Given the description of an element on the screen output the (x, y) to click on. 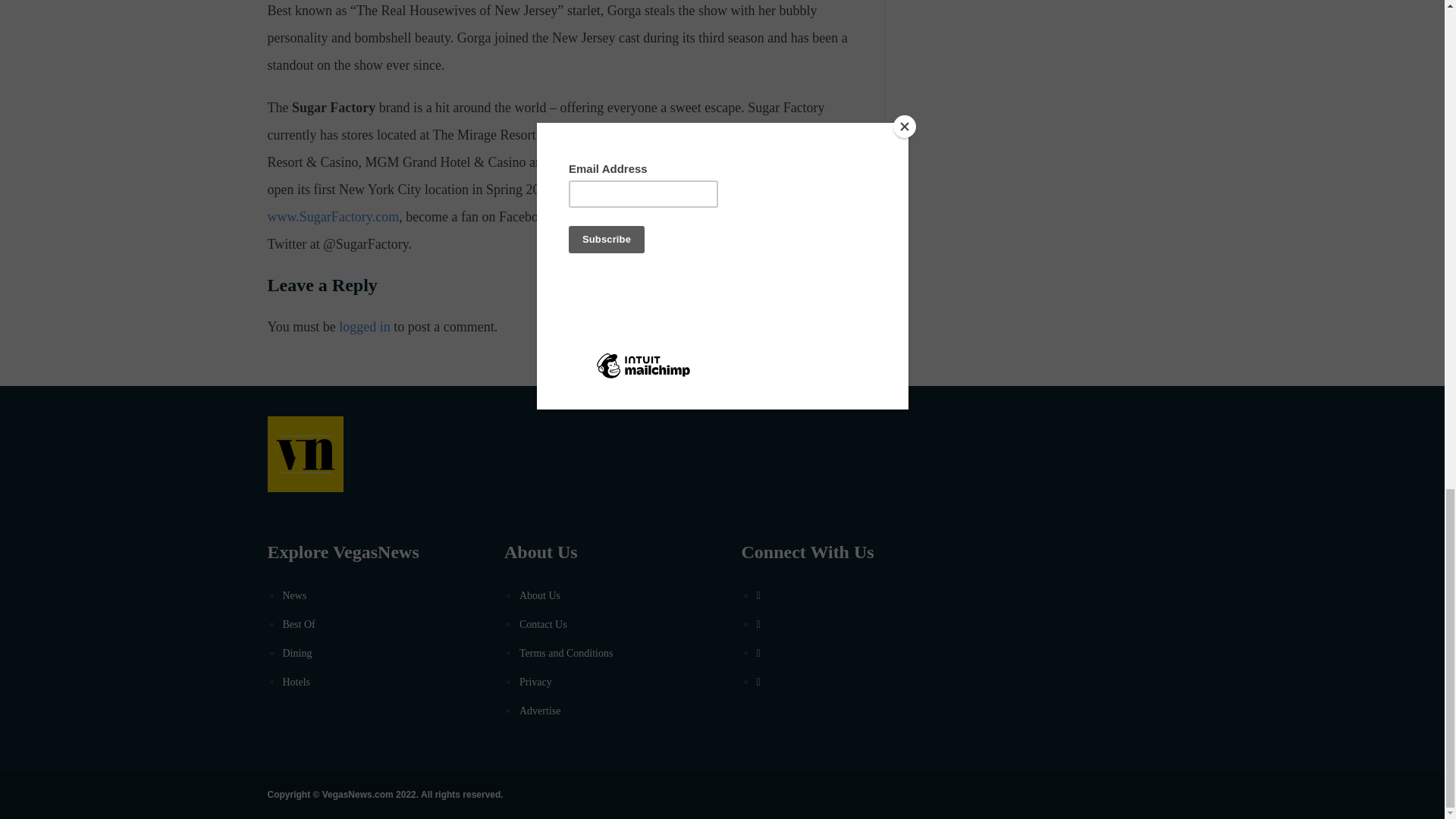
Contact Us (543, 624)
Privacy (535, 681)
Hotels (296, 681)
Dining (296, 653)
www.SugarFactory.com (332, 216)
Advertise (539, 710)
logged in (364, 326)
Best Of (298, 624)
Terms and Conditions (565, 653)
News (293, 595)
About Us (539, 595)
